Given the description of an element on the screen output the (x, y) to click on. 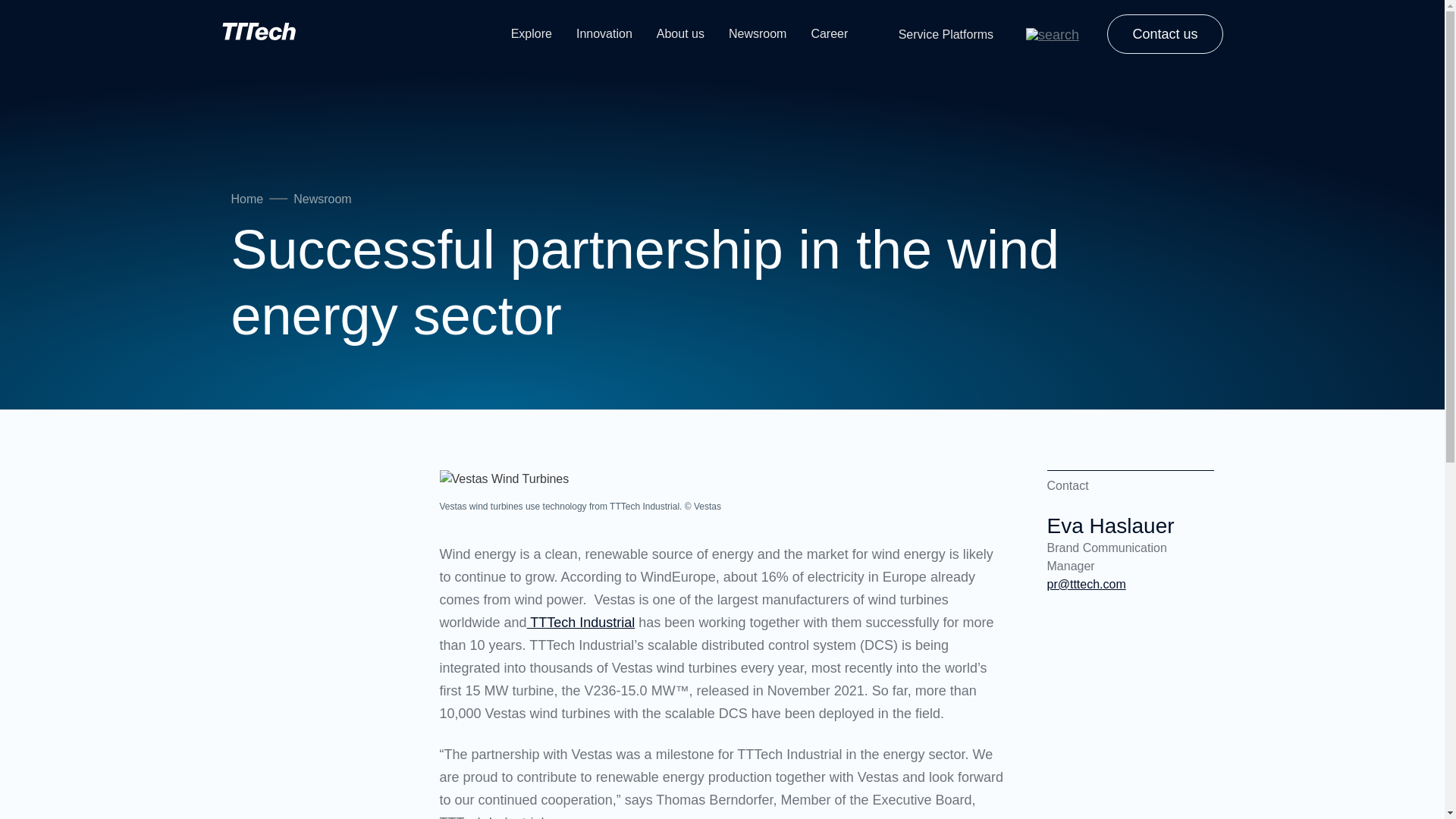
Home (308, 33)
Service Platforms (946, 33)
Career (828, 33)
Innovation (603, 33)
Home (246, 198)
Contact us (1164, 34)
Newsroom (757, 33)
Explore (531, 33)
TTTech Industrial (580, 622)
Newsroom (322, 198)
